Given the description of an element on the screen output the (x, y) to click on. 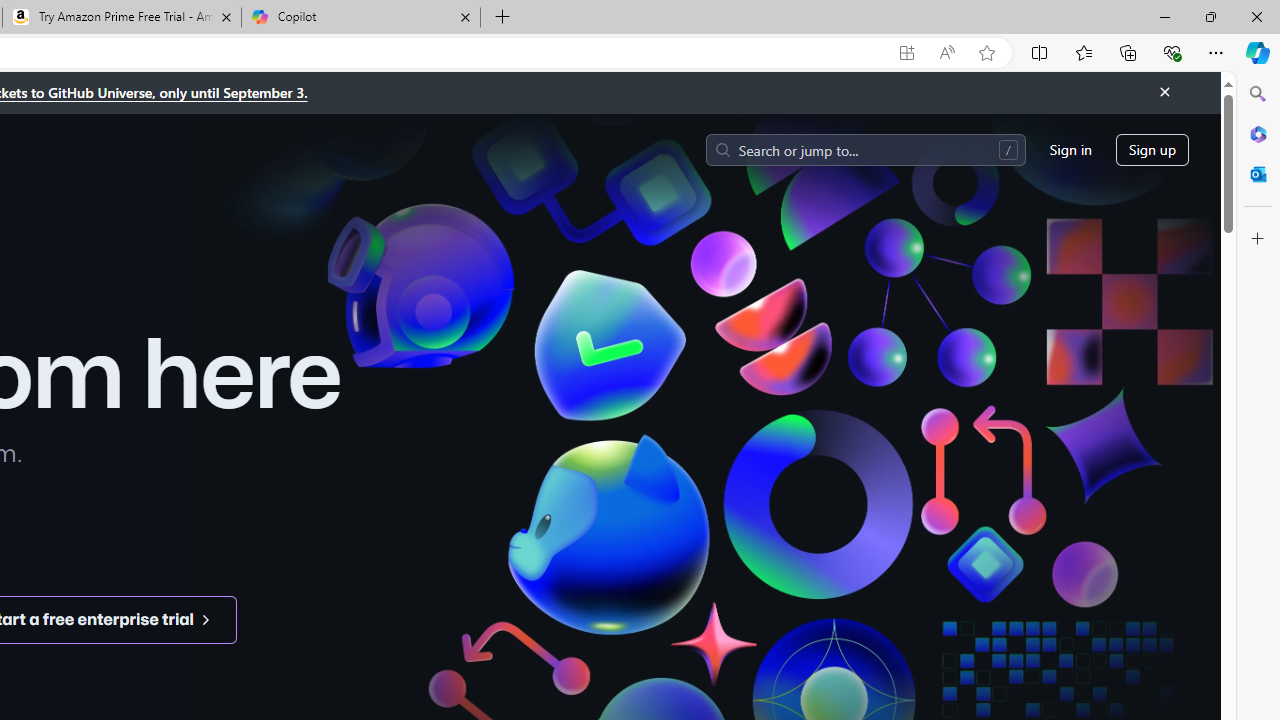
App available. Install GitHub (906, 53)
Customize (1258, 239)
